Given the description of an element on the screen output the (x, y) to click on. 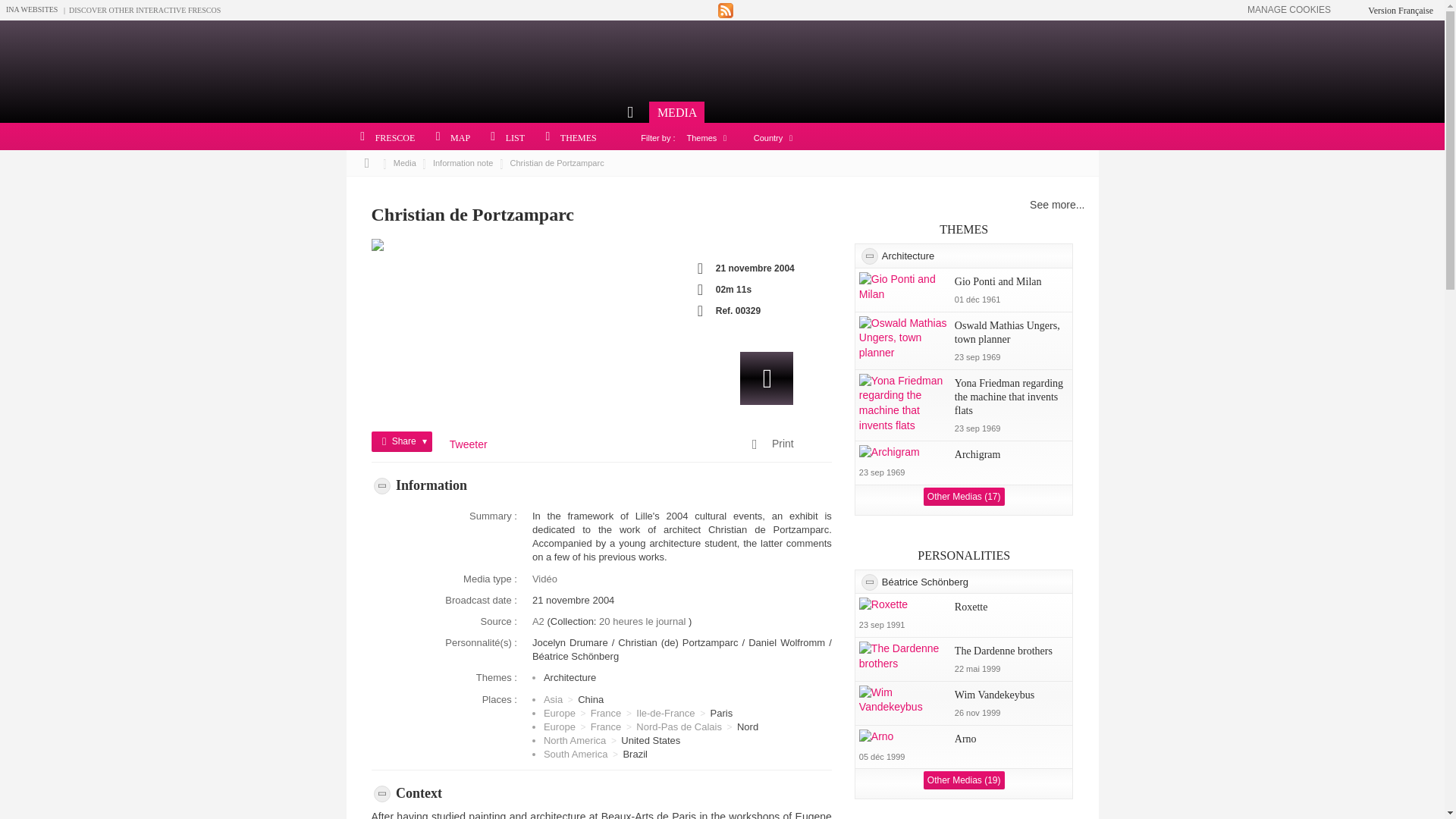
Daniel Wolfromm (788, 642)
Paris (721, 713)
THEMES (565, 137)
Print (782, 444)
A2 (539, 621)
Architecture (569, 677)
Jocelyn Drumare (571, 642)
Europe (559, 726)
China (591, 699)
MAP (447, 137)
United States (650, 740)
France (606, 726)
MANAGE COOKIES (1288, 9)
Nord (747, 726)
INA WEBSITES (32, 8)
